Given the description of an element on the screen output the (x, y) to click on. 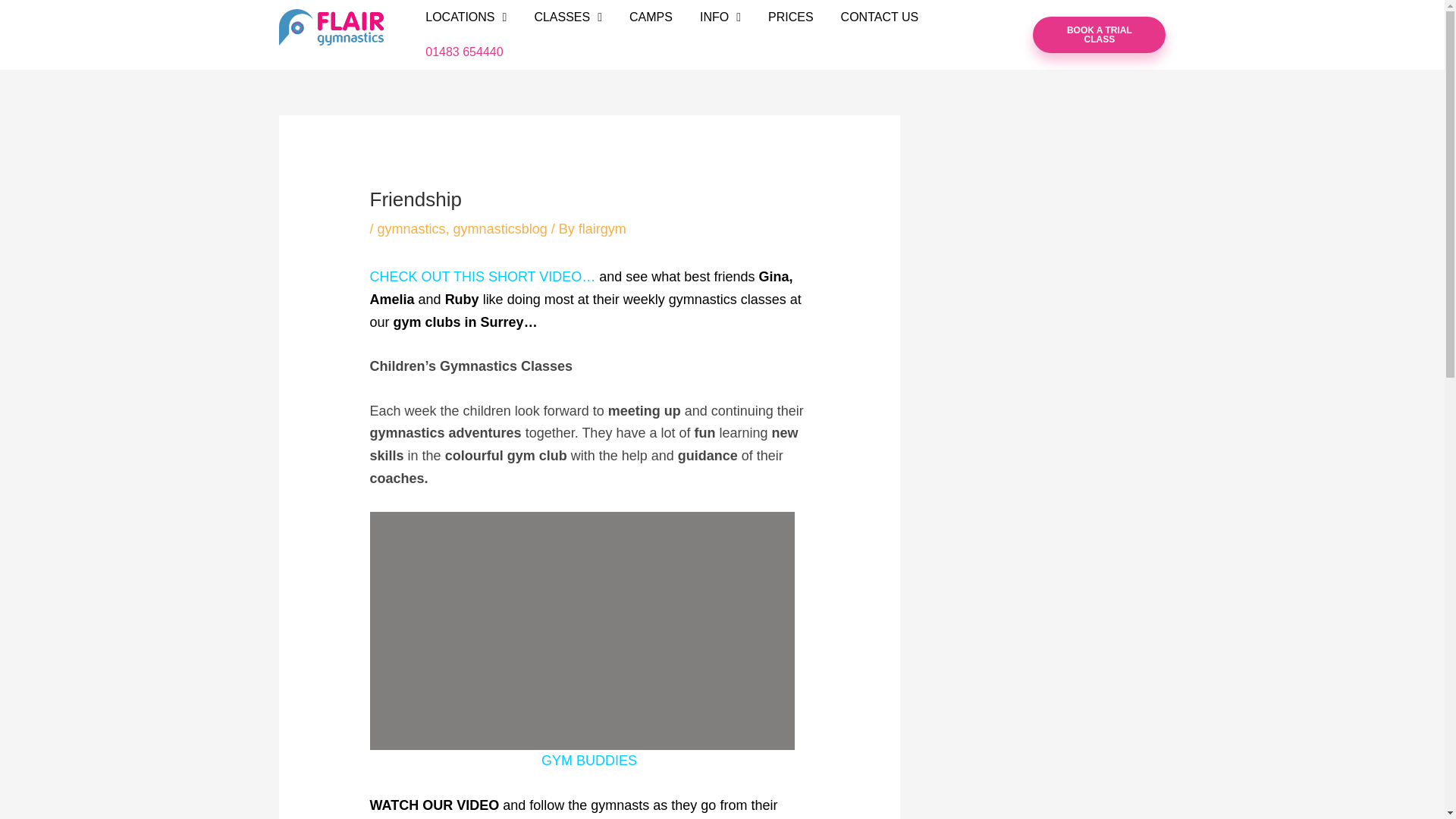
View all posts by flairgym (602, 228)
